Given the description of an element on the screen output the (x, y) to click on. 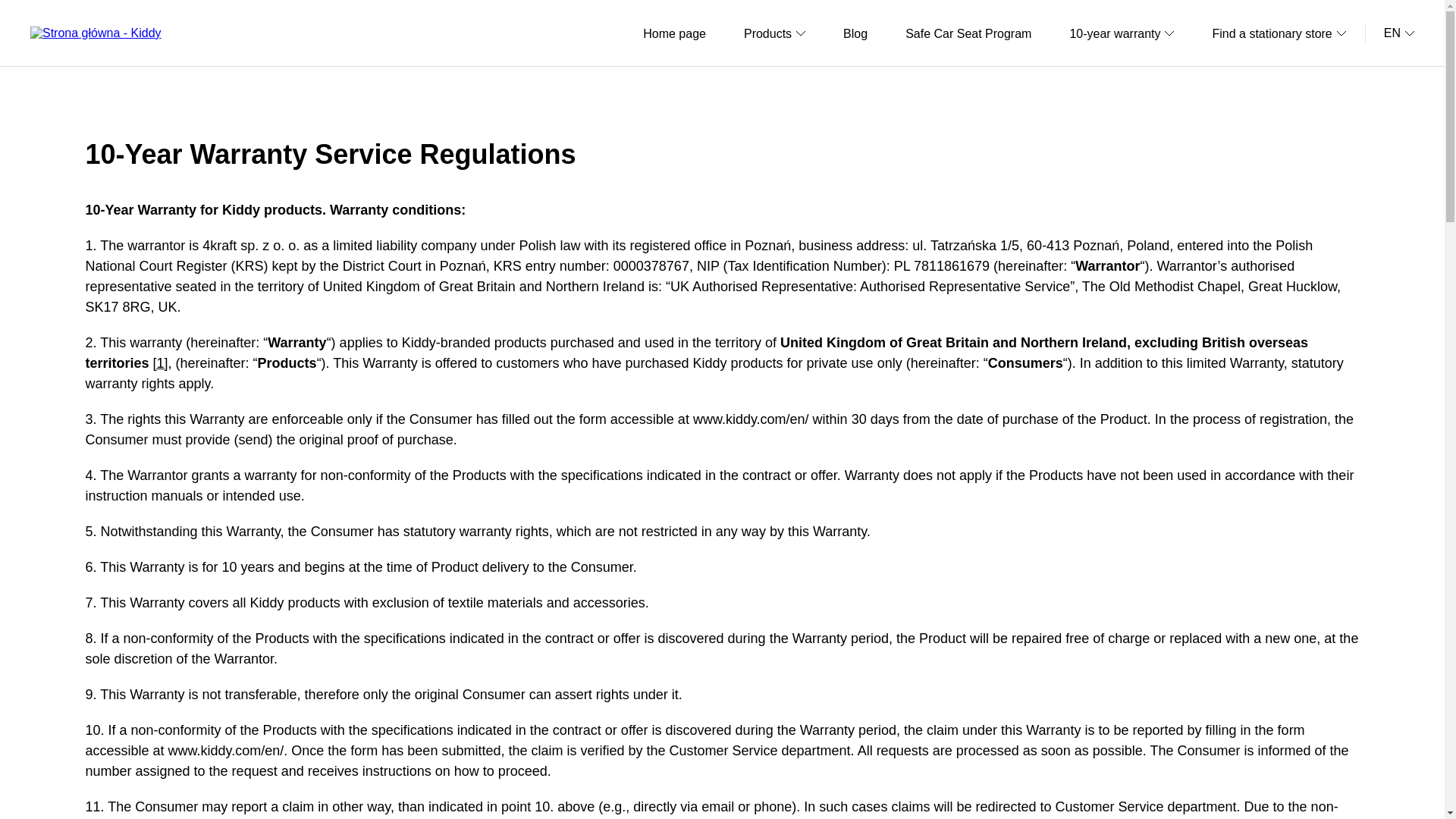
10-year warranty (1120, 32)
Find a stationary store (1278, 32)
Safe Car Seat Program (967, 32)
